Given the description of an element on the screen output the (x, y) to click on. 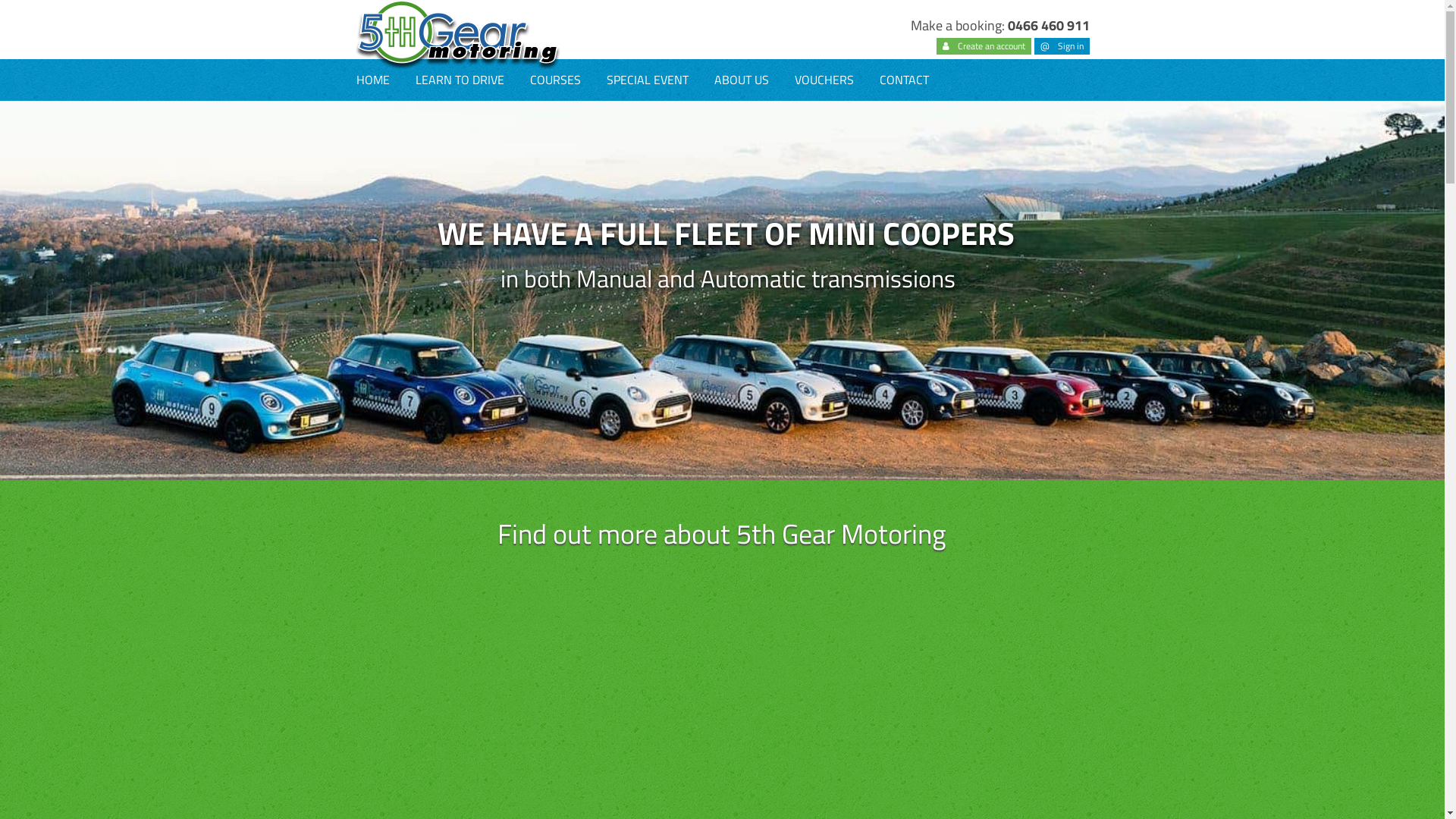
SPECIAL EVENT Element type: text (646, 79)
COURSES Element type: text (555, 79)
LEARN TO DRIVE Element type: text (458, 79)
NSW SAFE DRIVER COURSE Element type: text (458, 246)
RACE CAR EXPERIENCE Element type: text (555, 288)
TESTIMONIALS Element type: text (740, 163)
SKIDPAN TRAINING Element type: text (555, 163)
TRACK DAYS Element type: text (555, 246)
CORPORATE SOCIAL EVENTS Element type: text (646, 121)
DEFENSIVE DRIVING COURSE Element type: text (555, 121)
CONTACT Element type: text (903, 79)
ABOUT 5TH GEAR Element type: text (740, 121)
HAZARD PERCEPTION TEST Element type: text (458, 371)
SPECIAL SERVICES Element type: text (458, 413)
VULNERABLE ROAD USER PROGRAM Element type: text (458, 330)
Create an account Element type: text (983, 45)
ABOUT US Element type: text (740, 79)
PERFORMANCE TRAINING Element type: text (555, 204)
BOOK LESSON Element type: text (458, 121)
HOME Element type: text (371, 79)
0466 460 911 Element type: text (1048, 25)
@ Sign in Element type: text (1061, 45)
ACT SAFE DRIVER COURSE Element type: text (555, 330)
BEGINNERS DRIVER COURSE (CANBERRA) Element type: text (458, 288)
VOUCHERS Element type: text (823, 79)
ACT SAFER DRIVER COURSE Element type: text (458, 204)
Skip to main content Element type: text (53, 0)
CORPORATE TRAINING COURSES Element type: text (646, 163)
COMMUNITY INVOLVEMENT Element type: text (740, 204)
ACT PRE LEARNER LICENCE COURSE Element type: text (458, 163)
VULNERABLE ROAD USER PROGRAM Element type: text (555, 371)
